Given the description of an element on the screen output the (x, y) to click on. 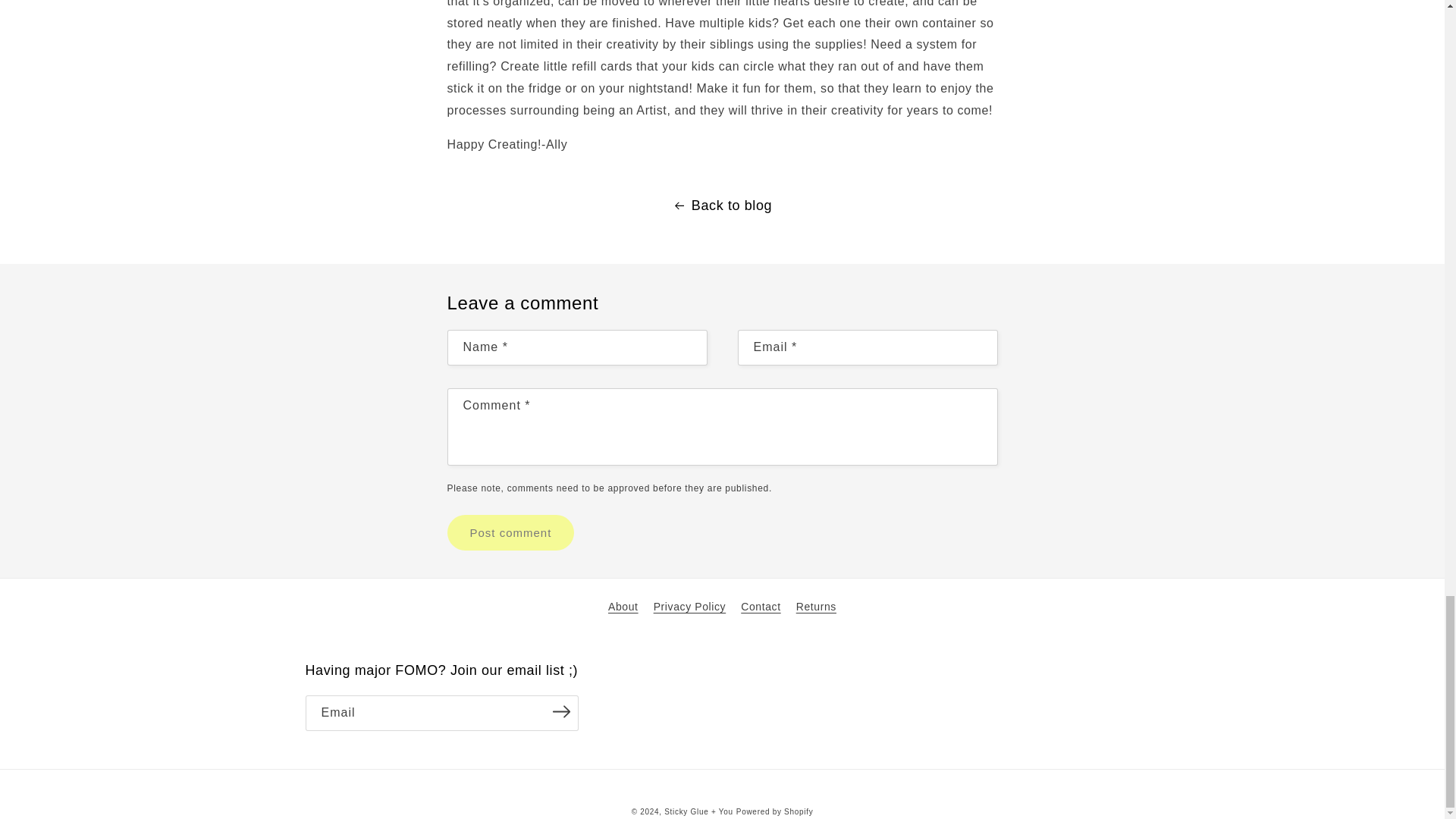
Contact (760, 606)
Post comment (510, 532)
Privacy Policy (689, 606)
Returns (815, 606)
Post comment (510, 532)
About (623, 608)
